Given the description of an element on the screen output the (x, y) to click on. 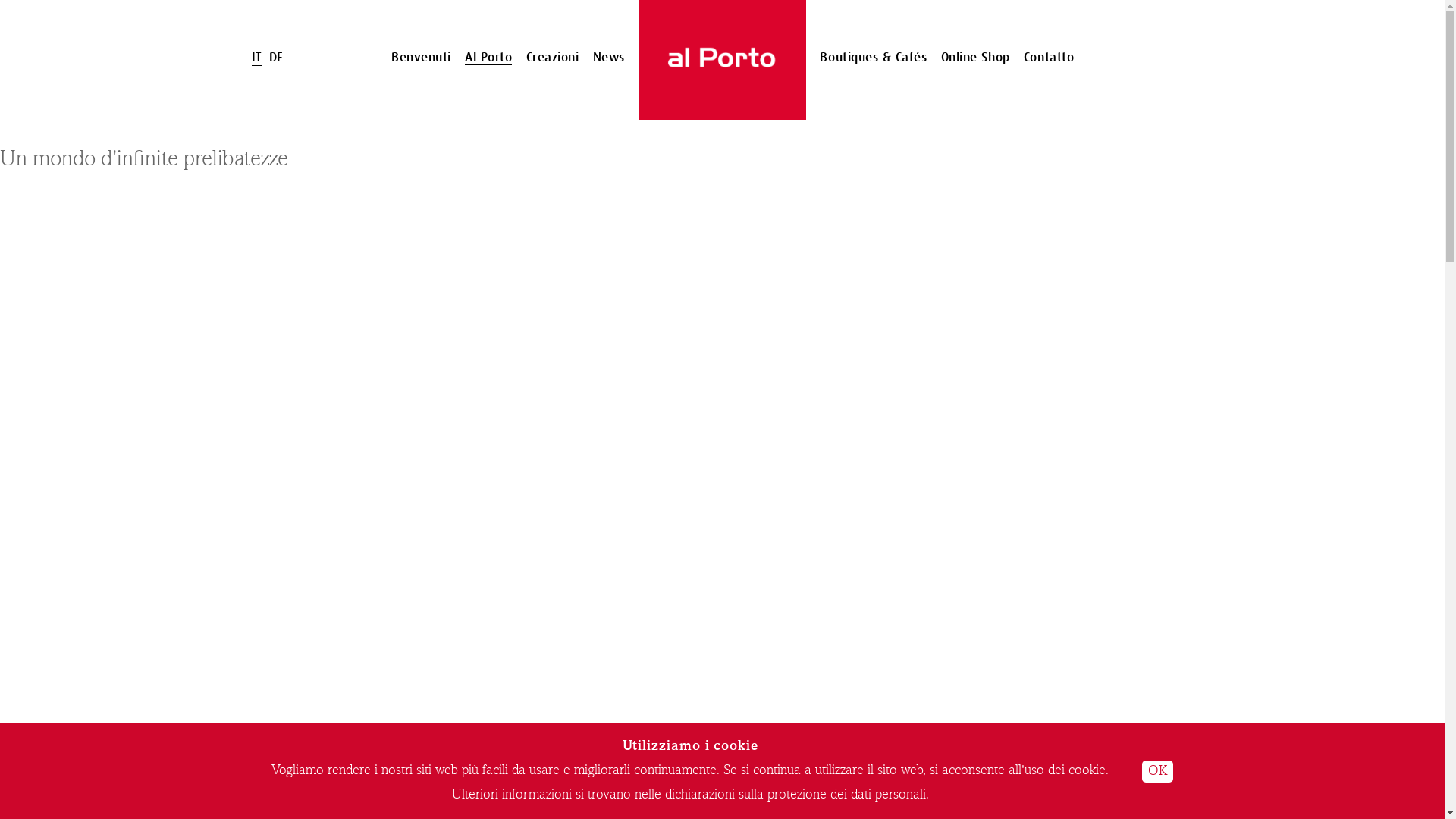
DE Element type: text (275, 57)
Contatto Element type: text (1048, 57)
alporto-home Element type: text (722, 59)
OK Element type: text (1157, 771)
Online Shop Element type: text (975, 57)
IT Element type: text (256, 58)
Al Porto Element type: text (487, 57)
News Element type: text (608, 57)
Benvenuti Element type: text (421, 57)
Creazioni Element type: text (552, 57)
